Given the description of an element on the screen output the (x, y) to click on. 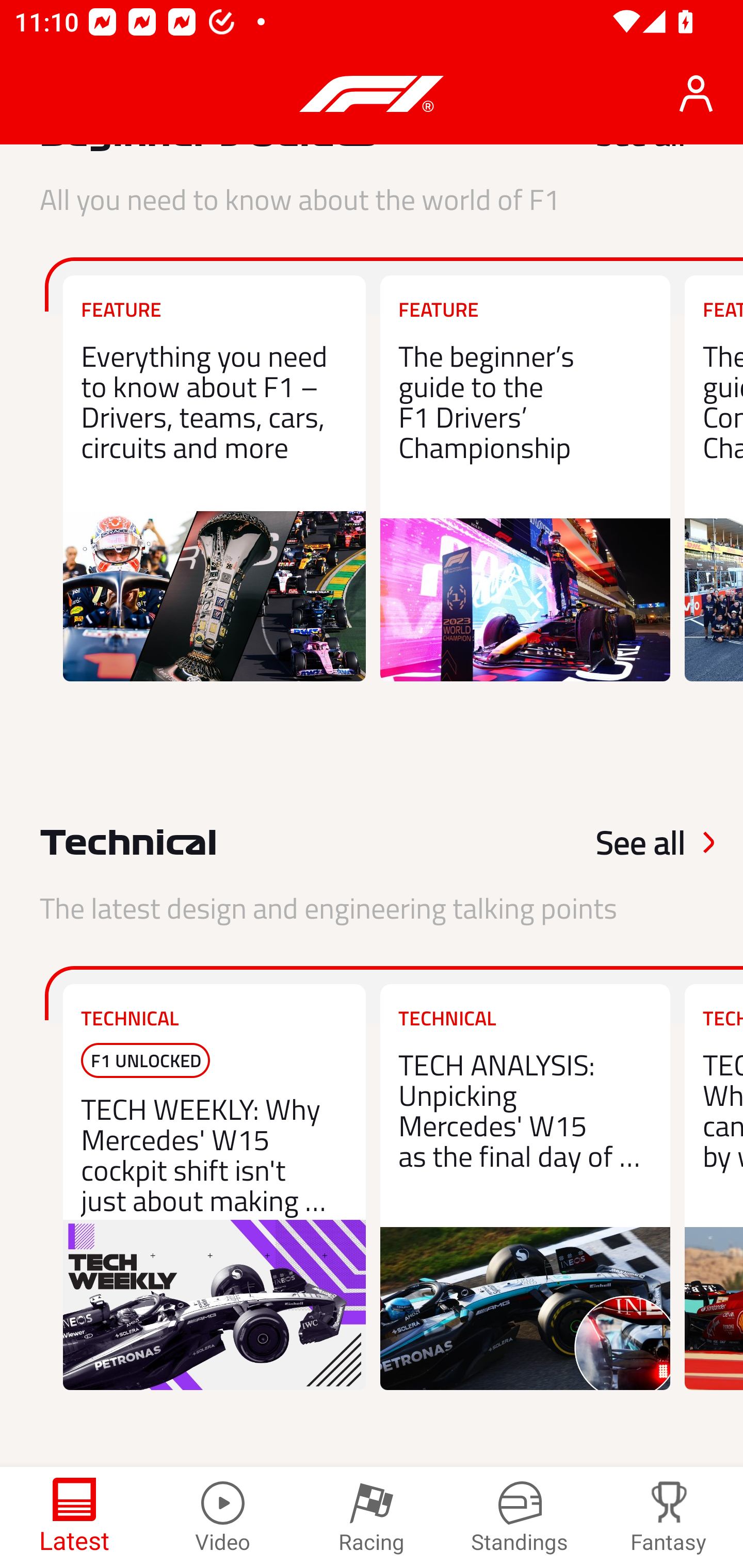
See all (617, 841)
Video (222, 1517)
Racing (371, 1517)
Standings (519, 1517)
Fantasy (668, 1517)
